Given the description of an element on the screen output the (x, y) to click on. 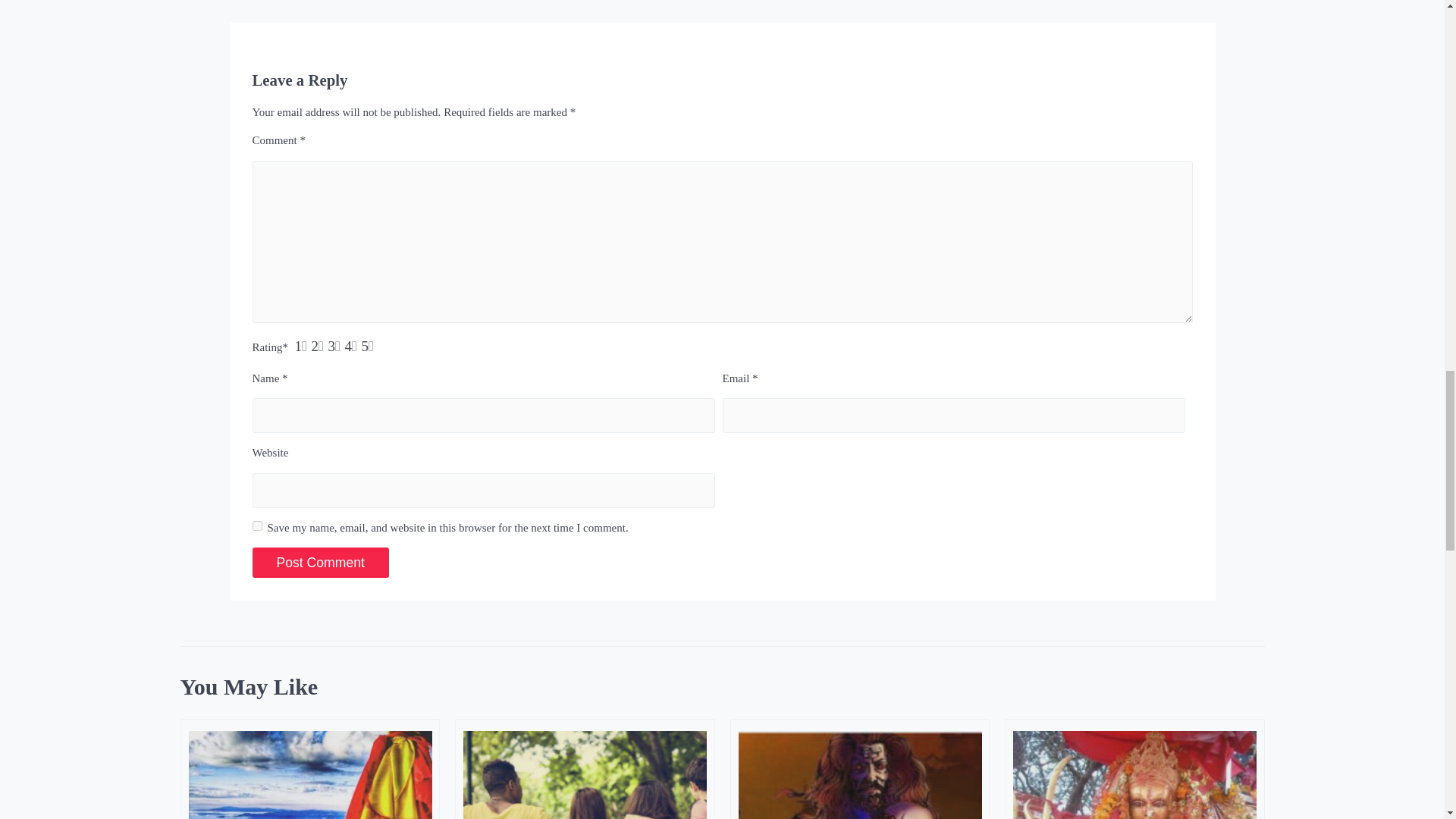
Post Comment (319, 562)
yes (256, 525)
